Given the description of an element on the screen output the (x, y) to click on. 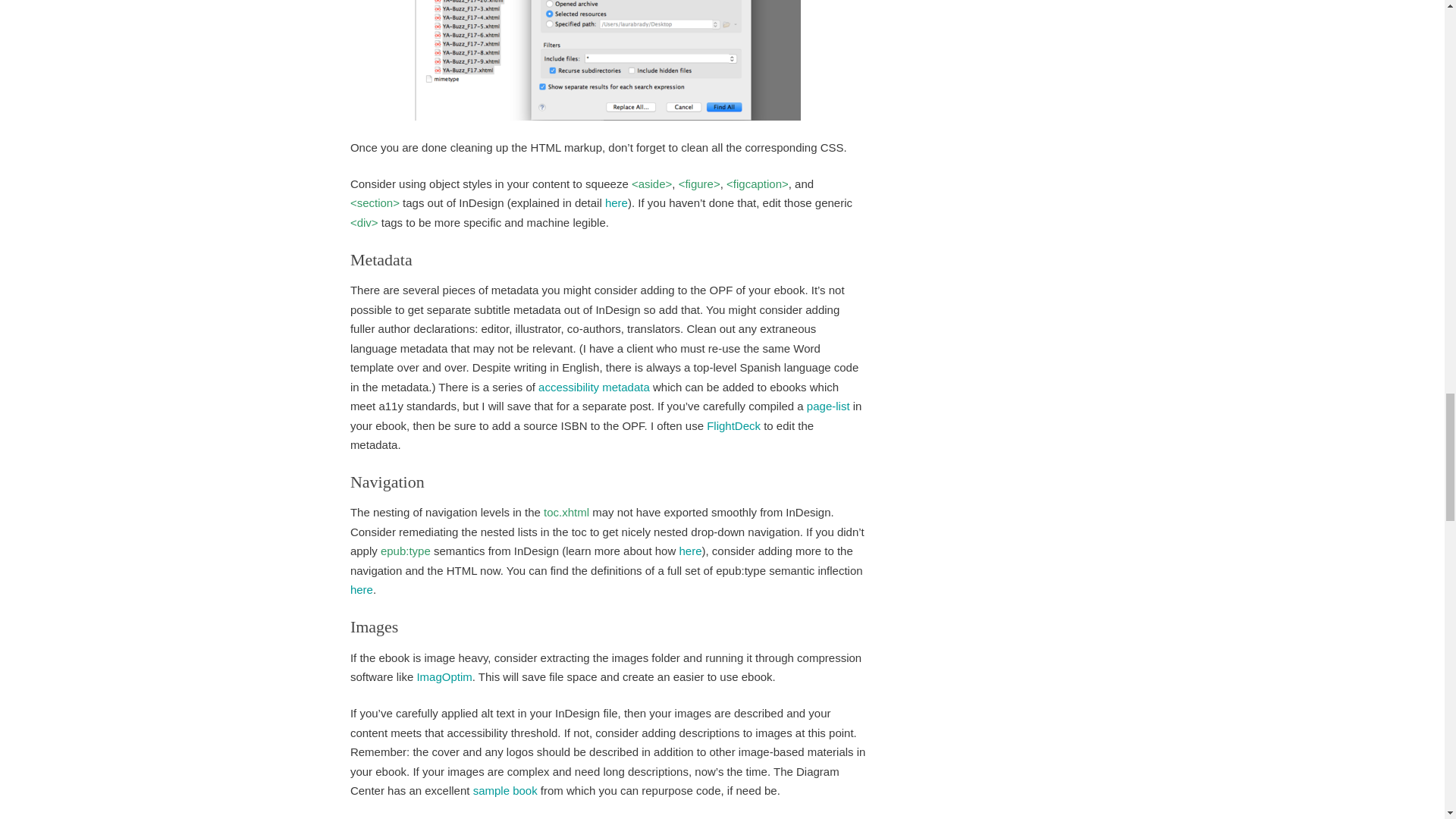
ImagOptim (443, 676)
here (689, 550)
accessibility metadata (593, 386)
sample book (506, 789)
FlightDeck (733, 425)
page-list (828, 405)
here (361, 589)
here (616, 202)
